Given the description of an element on the screen output the (x, y) to click on. 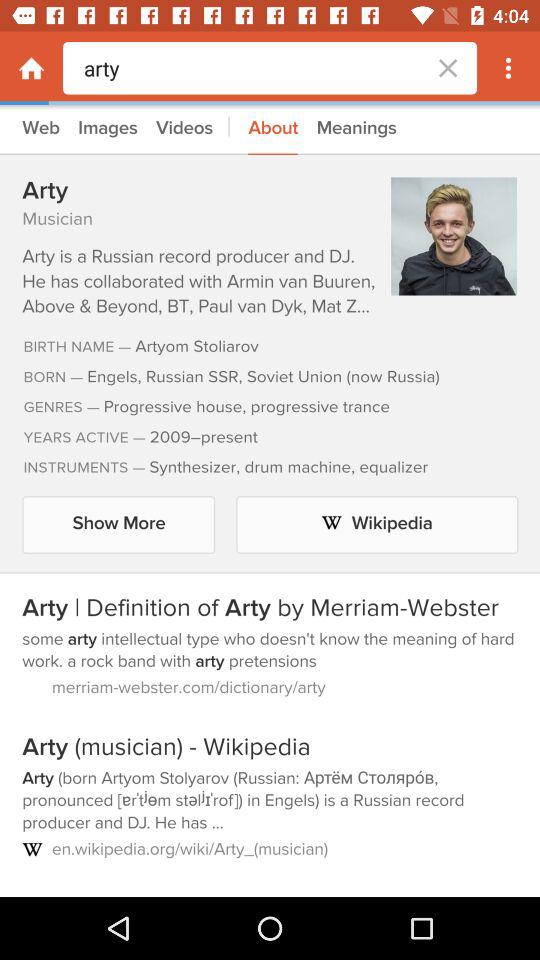
about a profile (270, 501)
